Given the description of an element on the screen output the (x, y) to click on. 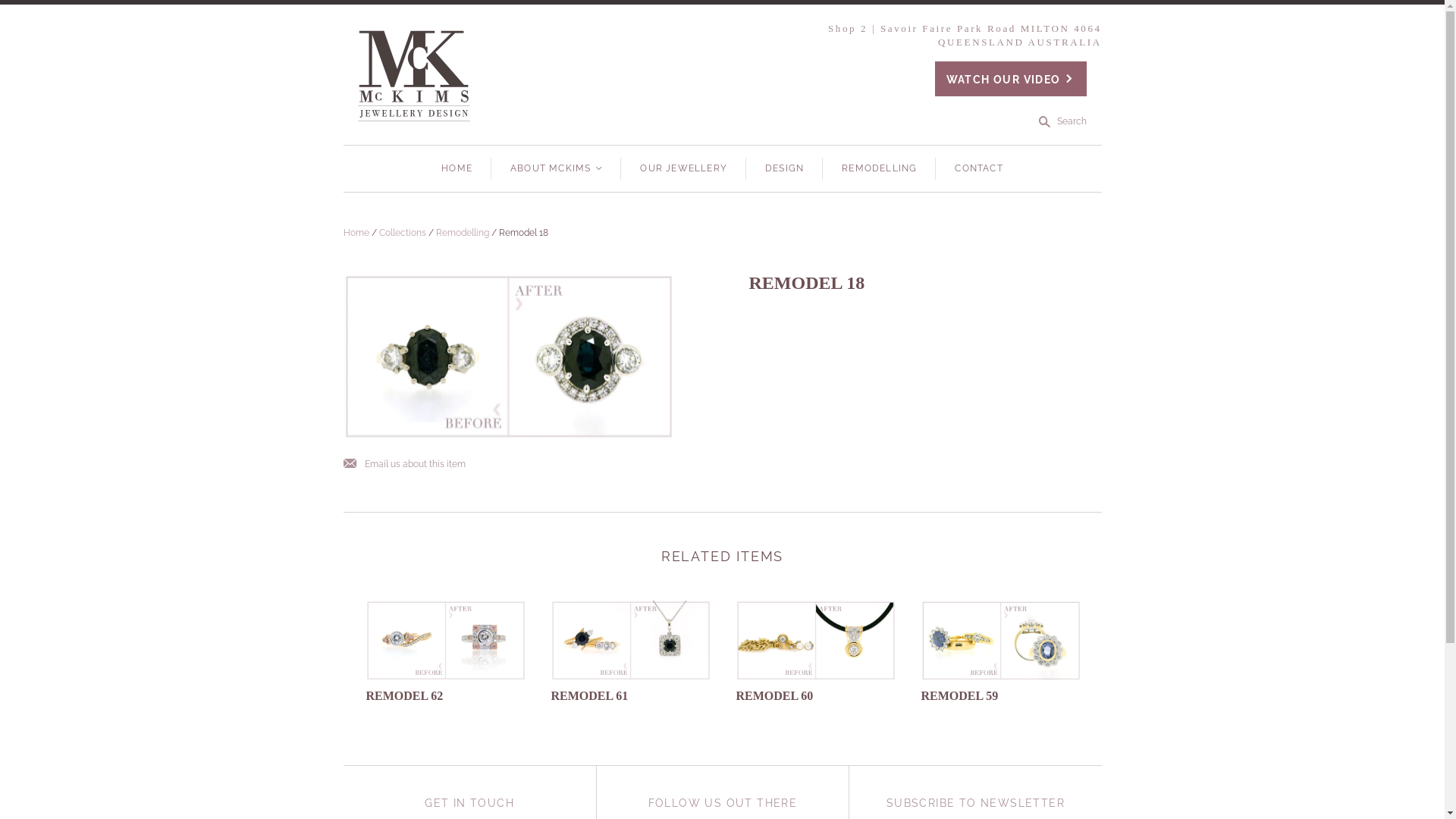
Next Product Element type: text (857, 628)
Remodelling Element type: text (461, 232)
REMODELLING Element type: text (878, 168)
Previous Product Element type: text (783, 628)
Home Element type: text (355, 232)
OUR JEWELLERY Element type: text (683, 168)
ABOUT MCKIMS
< Element type: text (556, 168)
s
Search Element type: text (1062, 121)
CONTACT Element type: text (978, 168)
WATCH OUR VIDEO > Element type: text (1010, 78)
HOME Element type: text (456, 168)
j
Email us about this item Element type: text (403, 464)
DESIGN Element type: text (784, 168)
Collections Element type: text (402, 232)
